Given the description of an element on the screen output the (x, y) to click on. 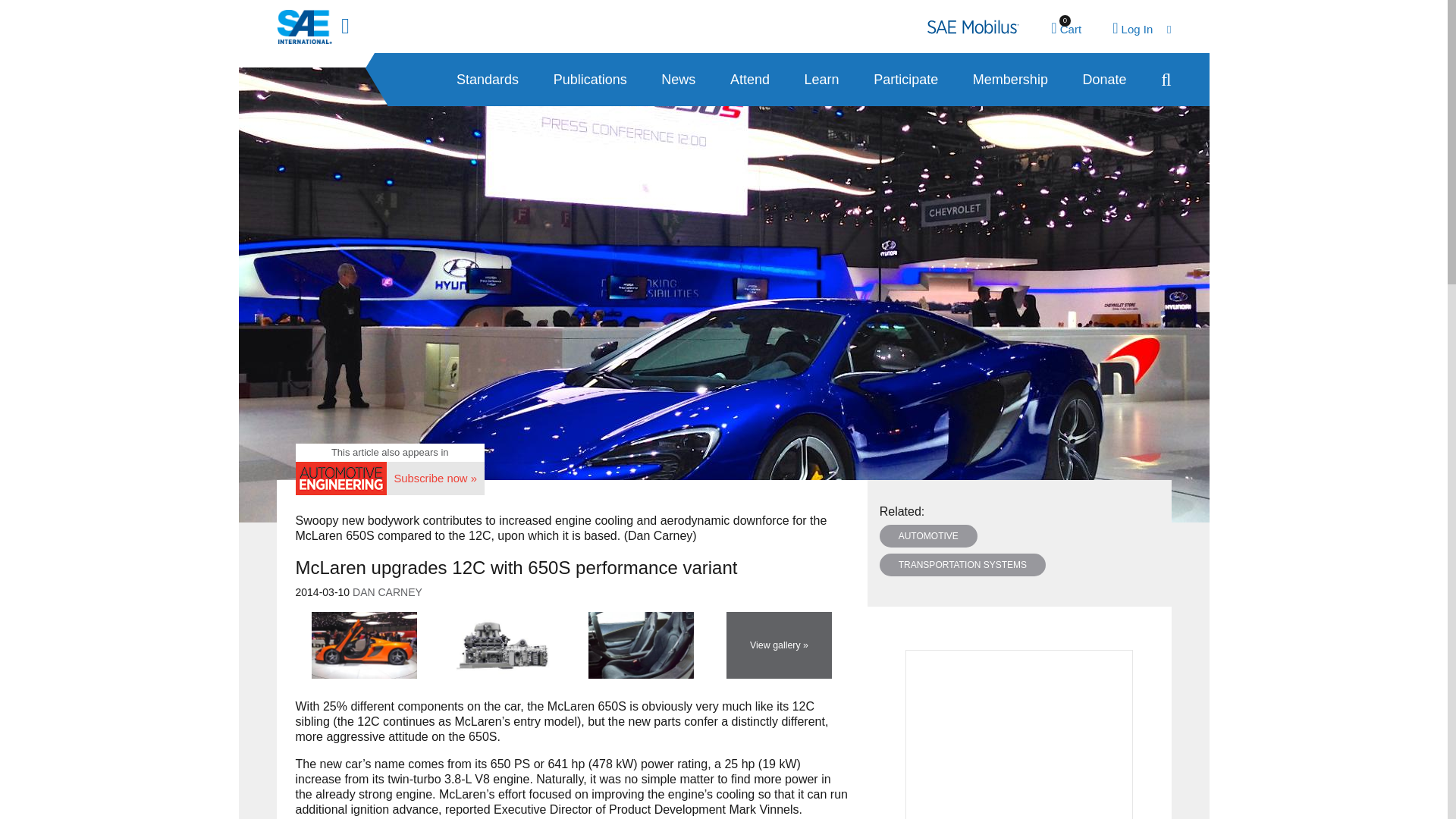
Log In (1141, 29)
Publications (590, 79)
Standards (487, 79)
3rd party ad content (1066, 28)
